Given the description of an element on the screen output the (x, y) to click on. 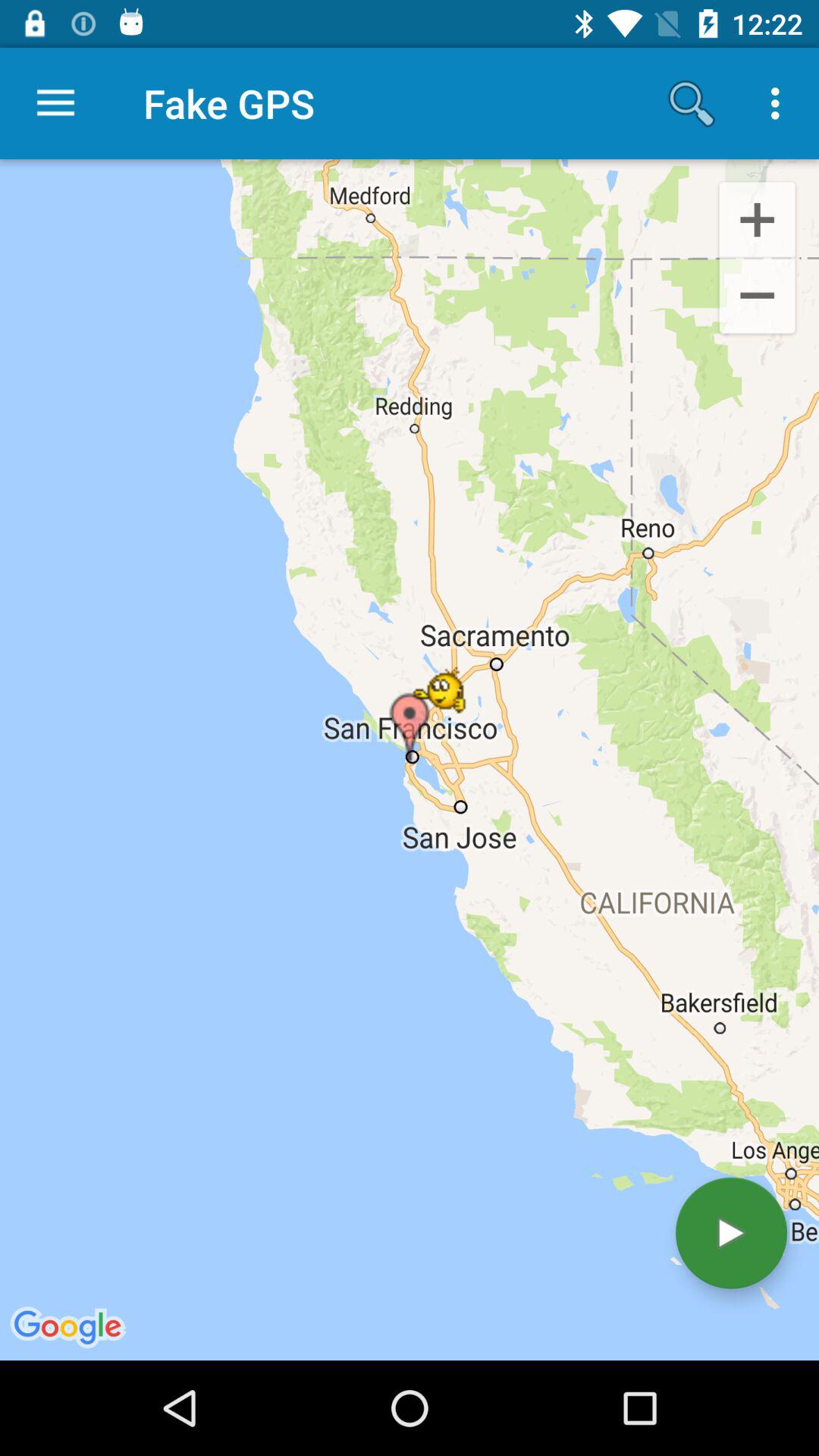
launch item at the bottom right corner (731, 1232)
